Given the description of an element on the screen output the (x, y) to click on. 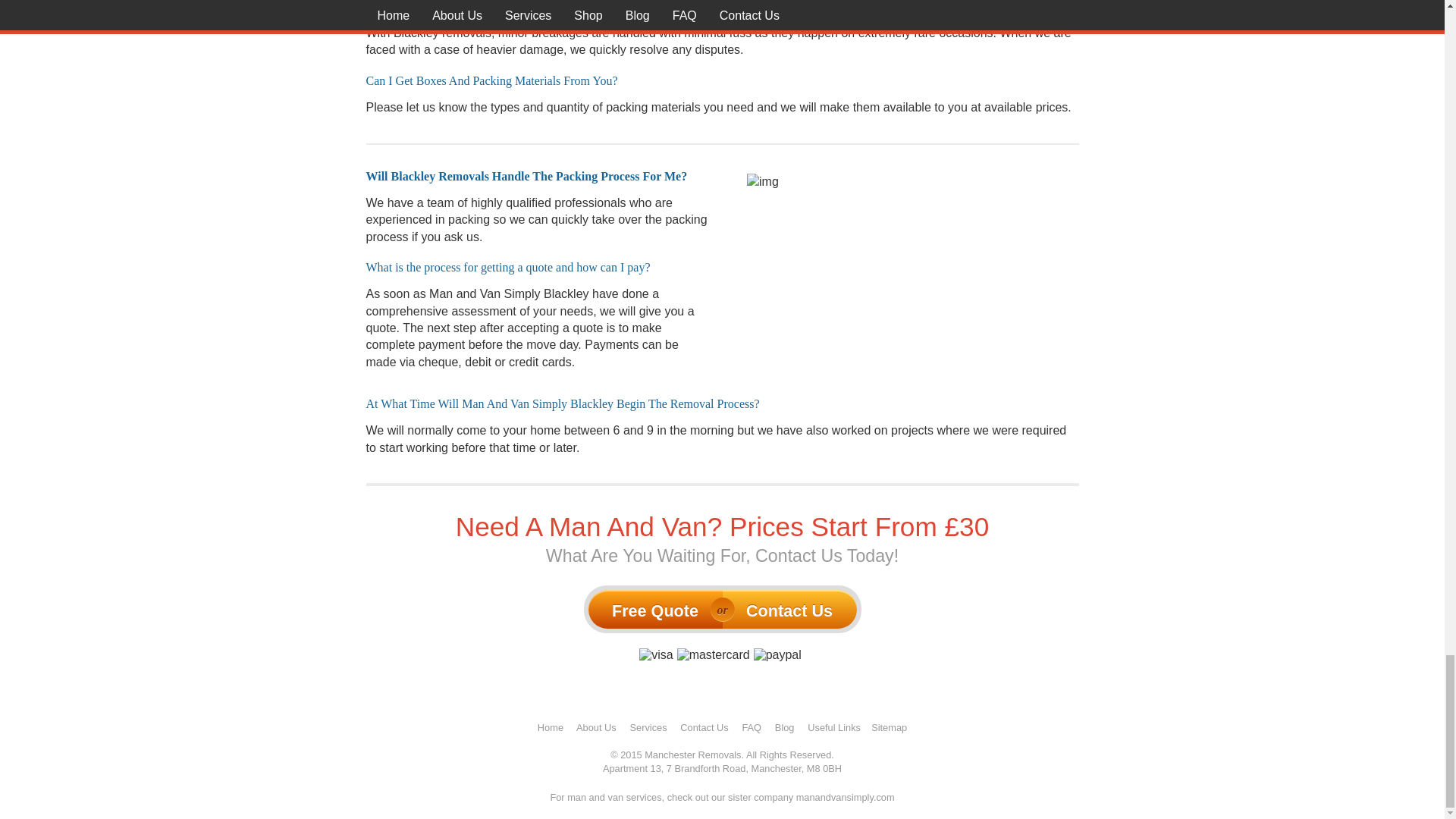
Contact Us (789, 608)
About Us (595, 727)
Sitemap (888, 727)
Useful Links (834, 727)
Home (550, 727)
Services (647, 727)
FAQ (751, 727)
Contact Us (703, 727)
Blog (784, 727)
Free Quote (655, 608)
